Given the description of an element on the screen output the (x, y) to click on. 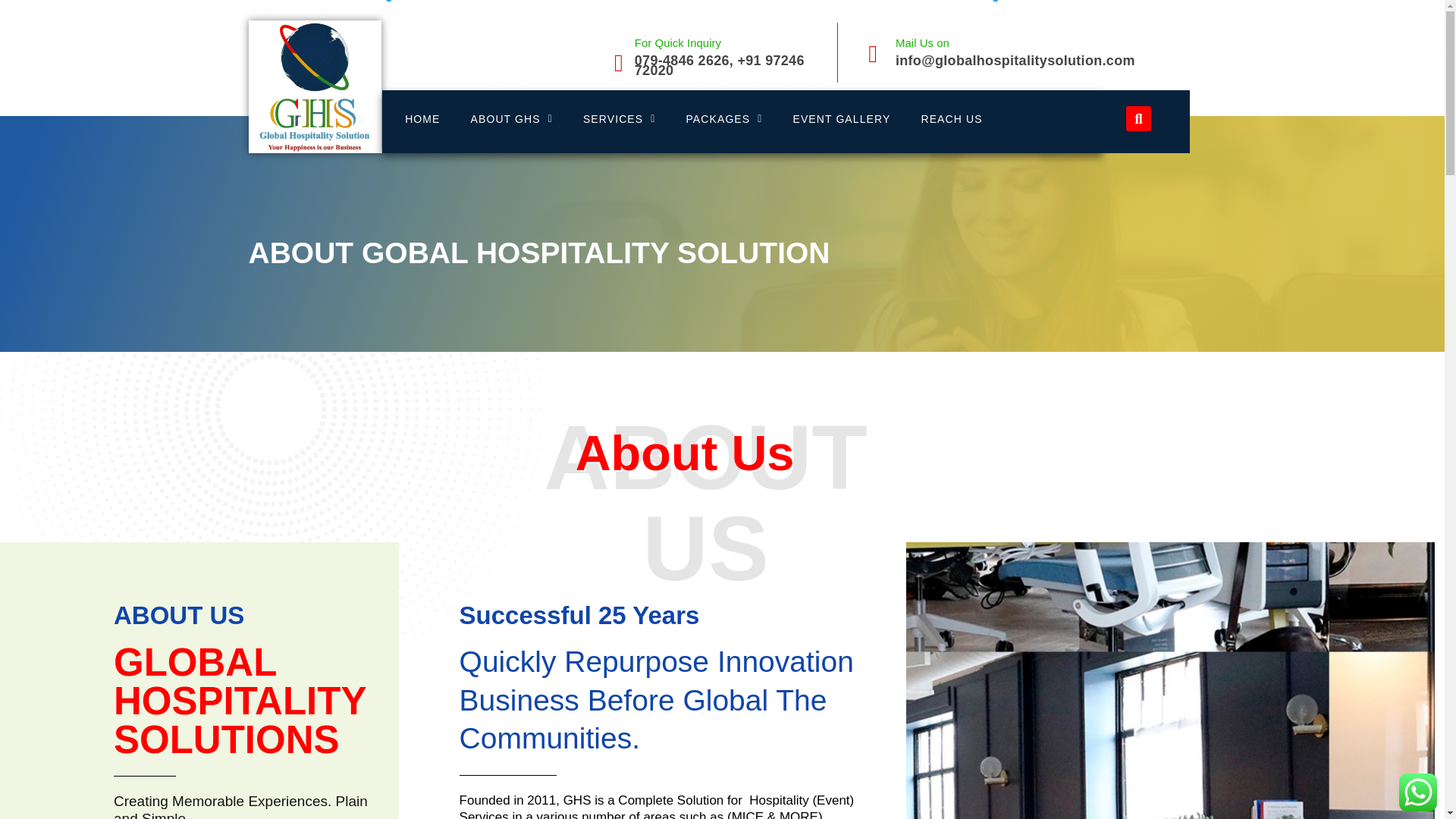
HOME (422, 118)
PACKAGES (723, 118)
Mail Us on (922, 42)
EVENT GALLERY (841, 118)
ABOUT GHS (511, 118)
For Quick Inquiry (677, 42)
REACH US (951, 118)
SERVICES (619, 118)
Event management company in Ahmedabad (422, 118)
